Given the description of an element on the screen output the (x, y) to click on. 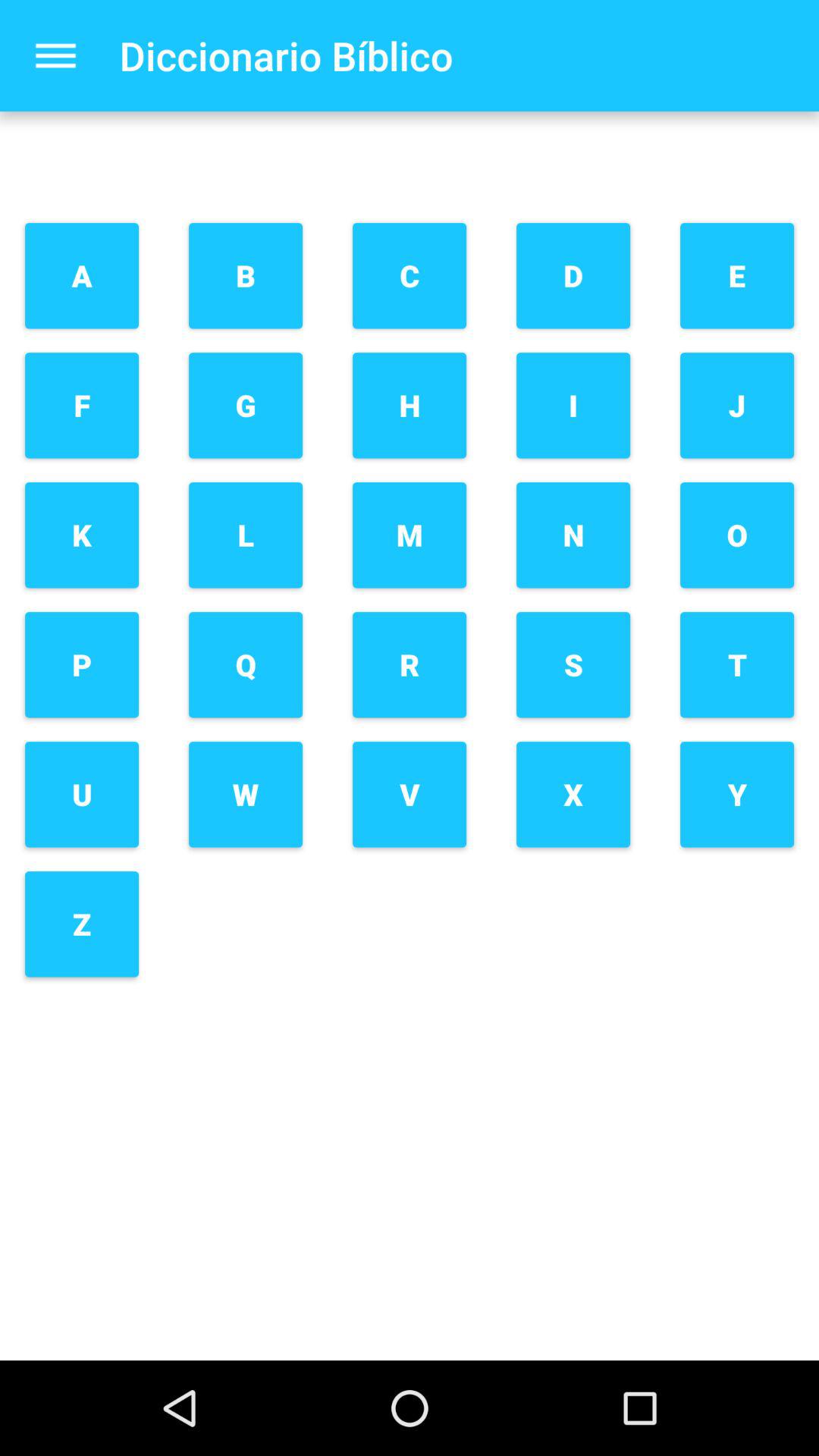
scroll to w icon (245, 794)
